Given the description of an element on the screen output the (x, y) to click on. 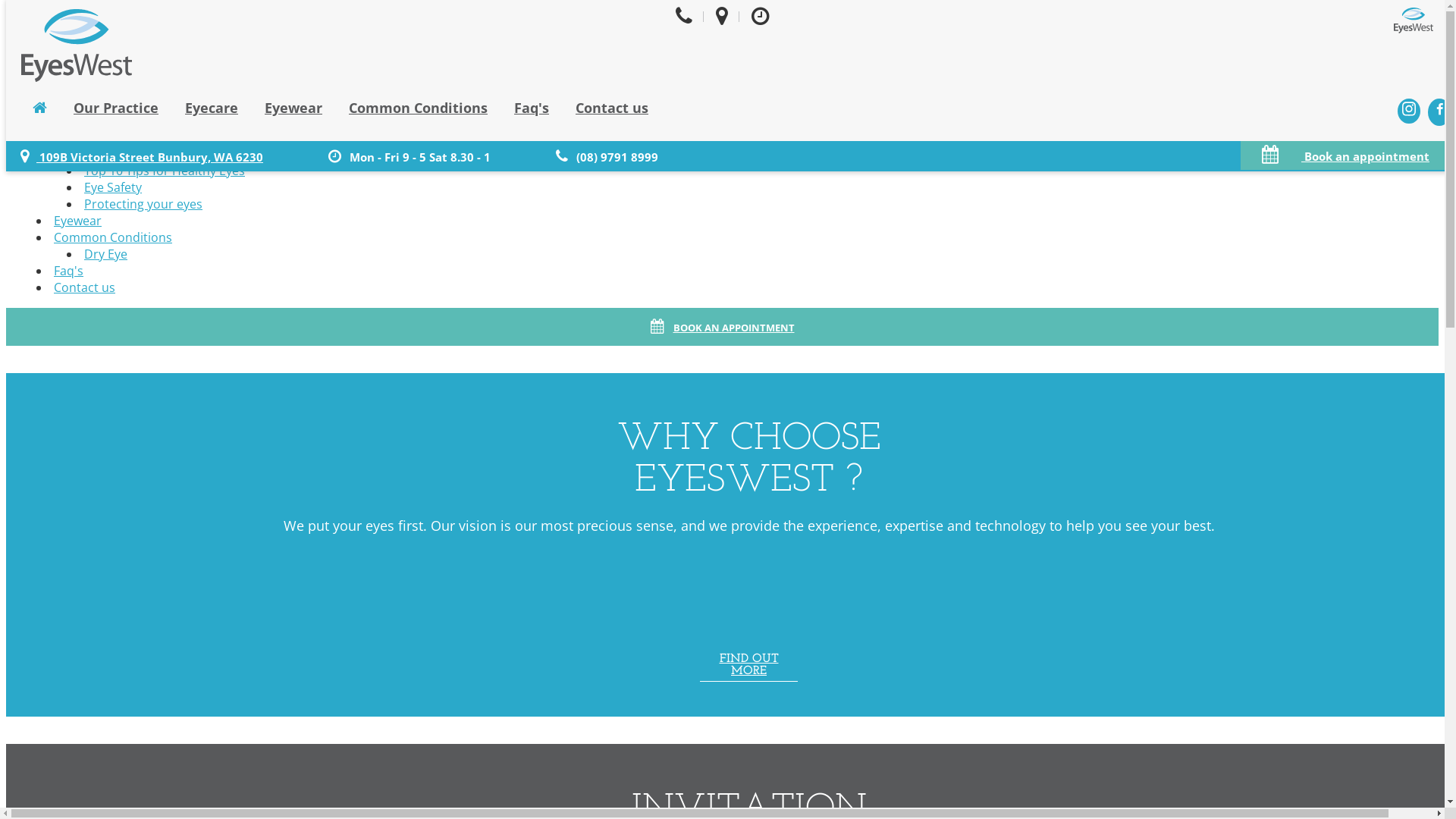
Faq's Element type: text (68, 270)
Eyewear Element type: text (77, 220)
Contact us Element type: text (84, 287)
Common Conditions Element type: text (112, 237)
Top 10 Tips for Healthy Eyes Element type: text (164, 170)
Mon - Fri 9 - 5 Sat 8.30 - 1 Element type: text (409, 156)
(08) 9791 8999 Element type: text (606, 156)
EyesWest Element type: hover (1413, 21)
Contact Lenses Element type: text (127, 136)
Our Practice Element type: text (89, 36)
Our Team Element type: text (112, 53)
OCT Imaging Element type: text (120, 153)
Why choose us Element type: text (127, 70)
Common Conditions Element type: text (417, 107)
Contact us Element type: text (611, 107)
Events Element type: text (103, 86)
Eye Safety Element type: text (112, 186)
Faq's Element type: text (531, 107)
Book an appointment Element type: text (1345, 155)
EyesWest Element type: hover (76, 46)
Eyecare Element type: text (75, 103)
Eyecare Element type: text (211, 107)
FIND OUT MORE Element type: text (748, 666)
BOOK AN APPOINTMENT Element type: text (722, 326)
109B Victoria Street Bunbury, WA 6230 Element type: text (141, 156)
Protecting your eyes Element type: text (143, 203)
Eye exam Element type: text (111, 120)
Dry Eye Element type: text (105, 253)
Eyewear Element type: text (293, 107)
Our Practice Element type: text (115, 107)
